Given the description of an element on the screen output the (x, y) to click on. 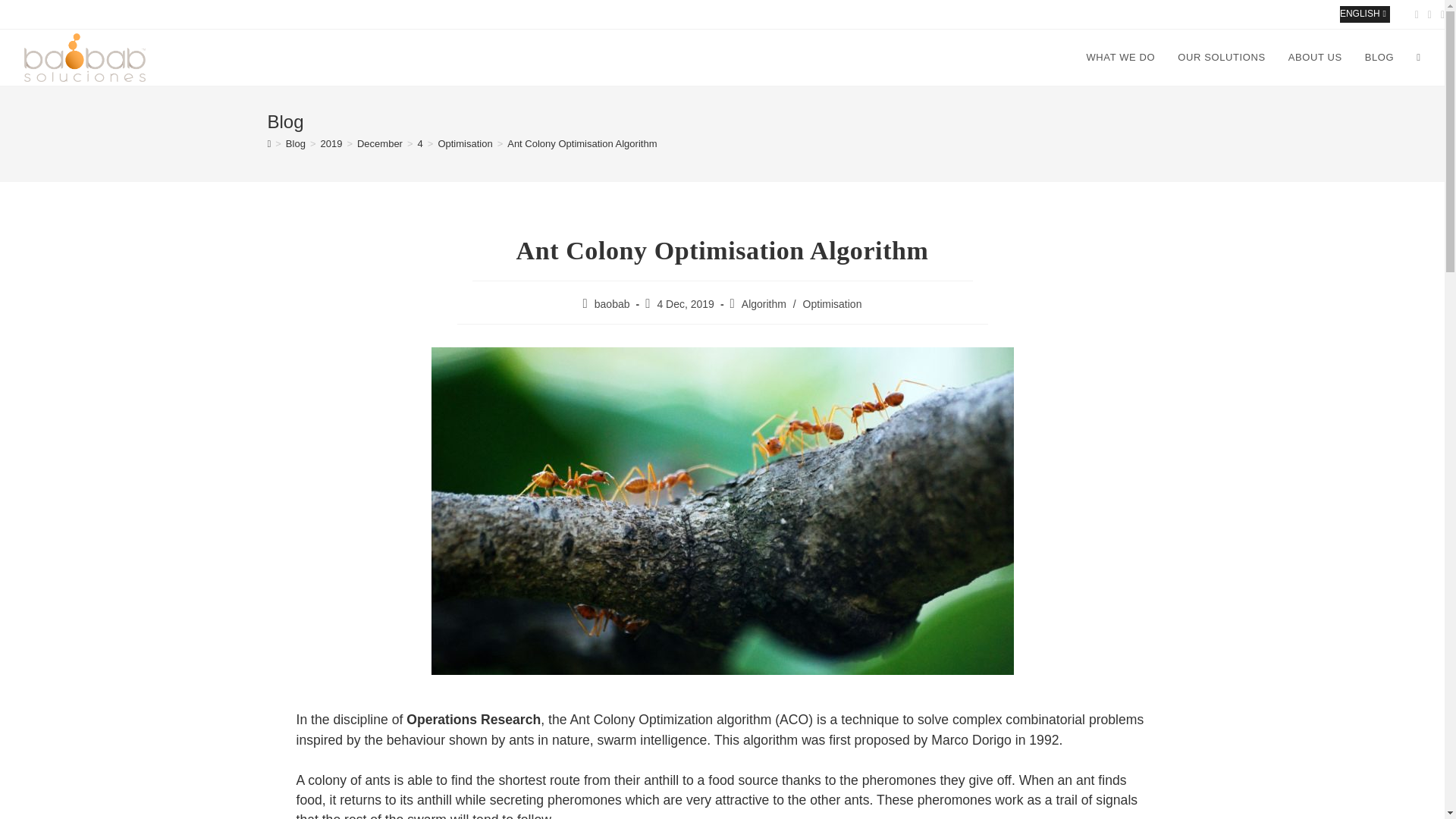
WORK WITH US (1293, 13)
December (379, 143)
baobab (612, 304)
CONTACT (1225, 13)
Ver Transparencia (1323, 774)
Optimisation (832, 304)
Algorithm (763, 304)
OUR SOLUTIONS (1221, 57)
Optimisation (465, 143)
WHAT WE DO (1121, 57)
ABOUT US (1315, 57)
English (1364, 13)
Ant Colony Optimisation Algorithm (581, 143)
ENGLISH (1364, 13)
Posts by baobab (612, 304)
